Given the description of an element on the screen output the (x, y) to click on. 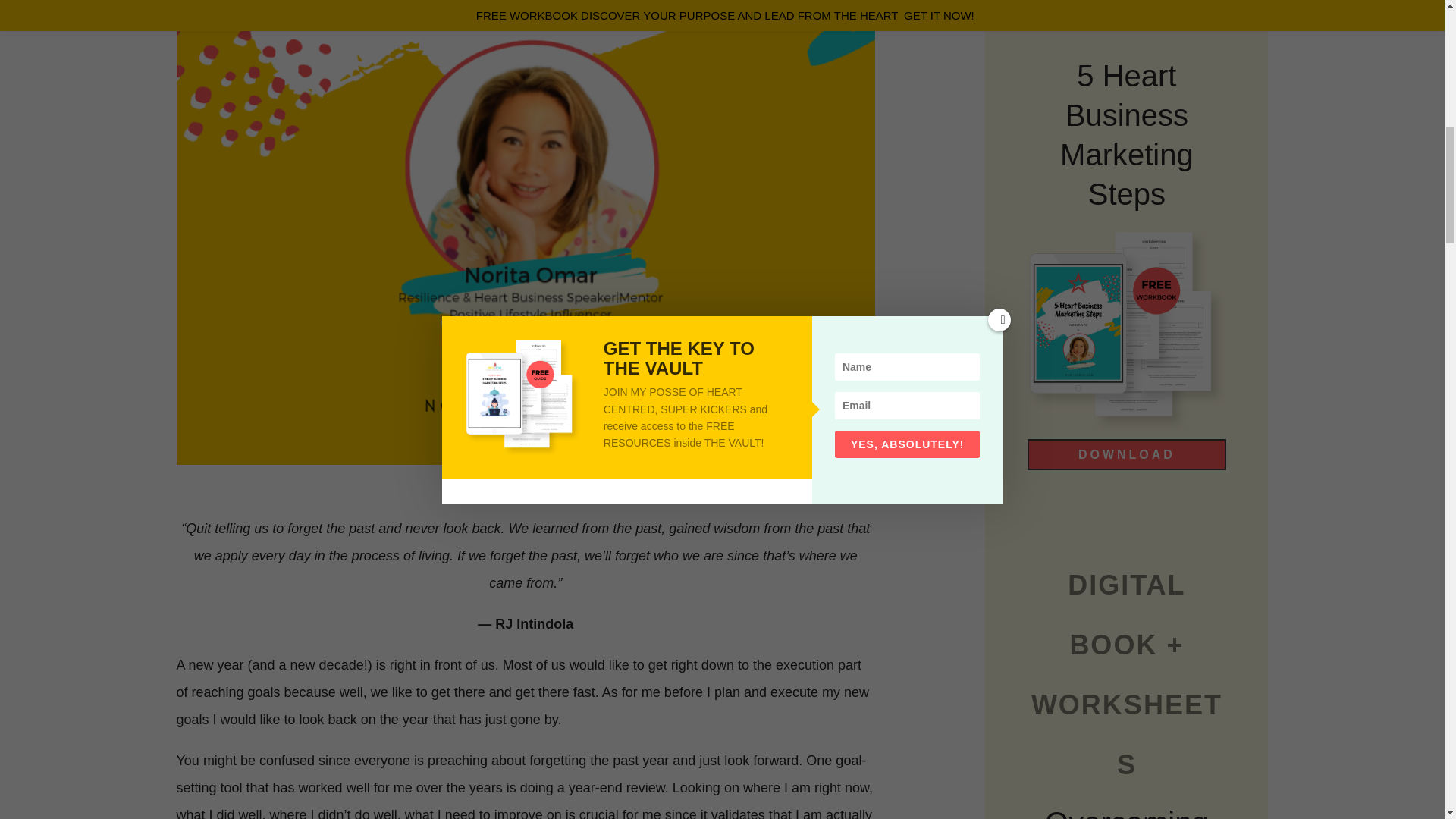
DOWNLOAD (1126, 454)
